Given the description of an element on the screen output the (x, y) to click on. 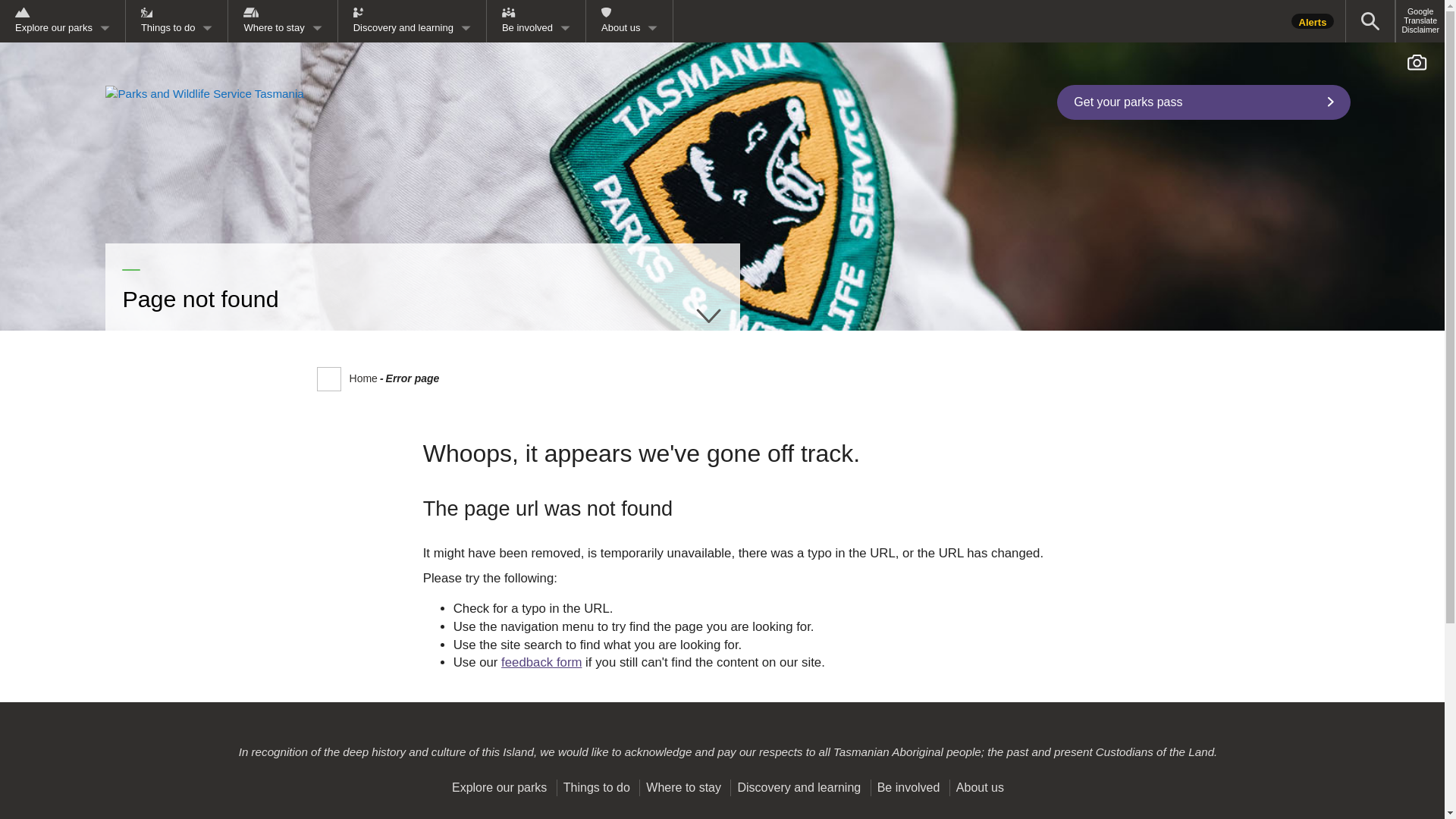
Explore our parks (62, 21)
